Given the description of an element on the screen output the (x, y) to click on. 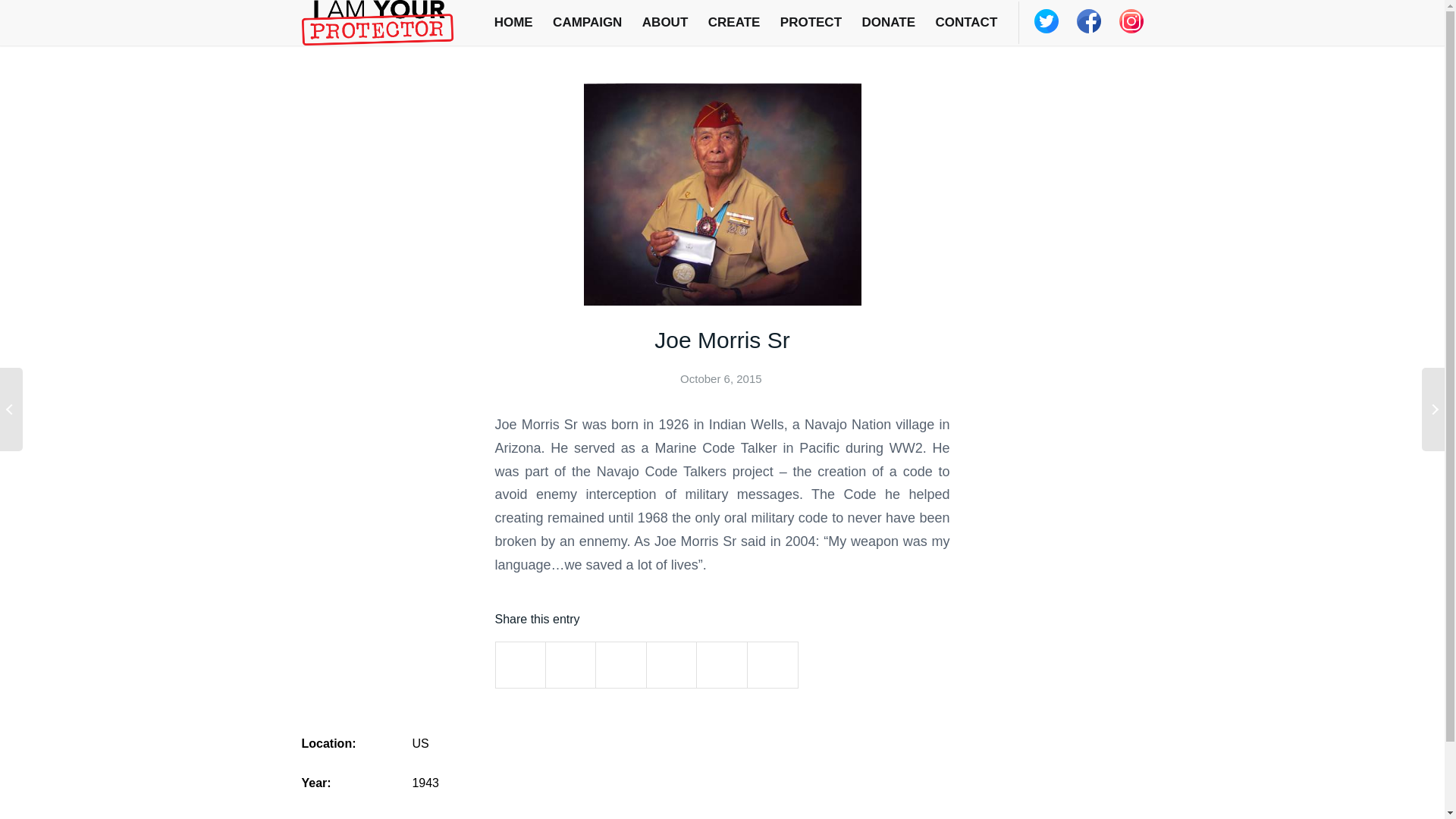
CAMPAIGN (587, 23)
CONTACT (965, 23)
ABOUT (664, 23)
CREATE (734, 23)
PROTECT (810, 23)
DONATE (887, 23)
Joe Morris Sr (721, 339)
CONTACT (965, 23)
HOME (512, 23)
PROTECT (810, 23)
DONATE (887, 23)
HOME (512, 23)
CAMPAIGN (587, 23)
ABOUT (664, 23)
CREATE (734, 23)
